Given the description of an element on the screen output the (x, y) to click on. 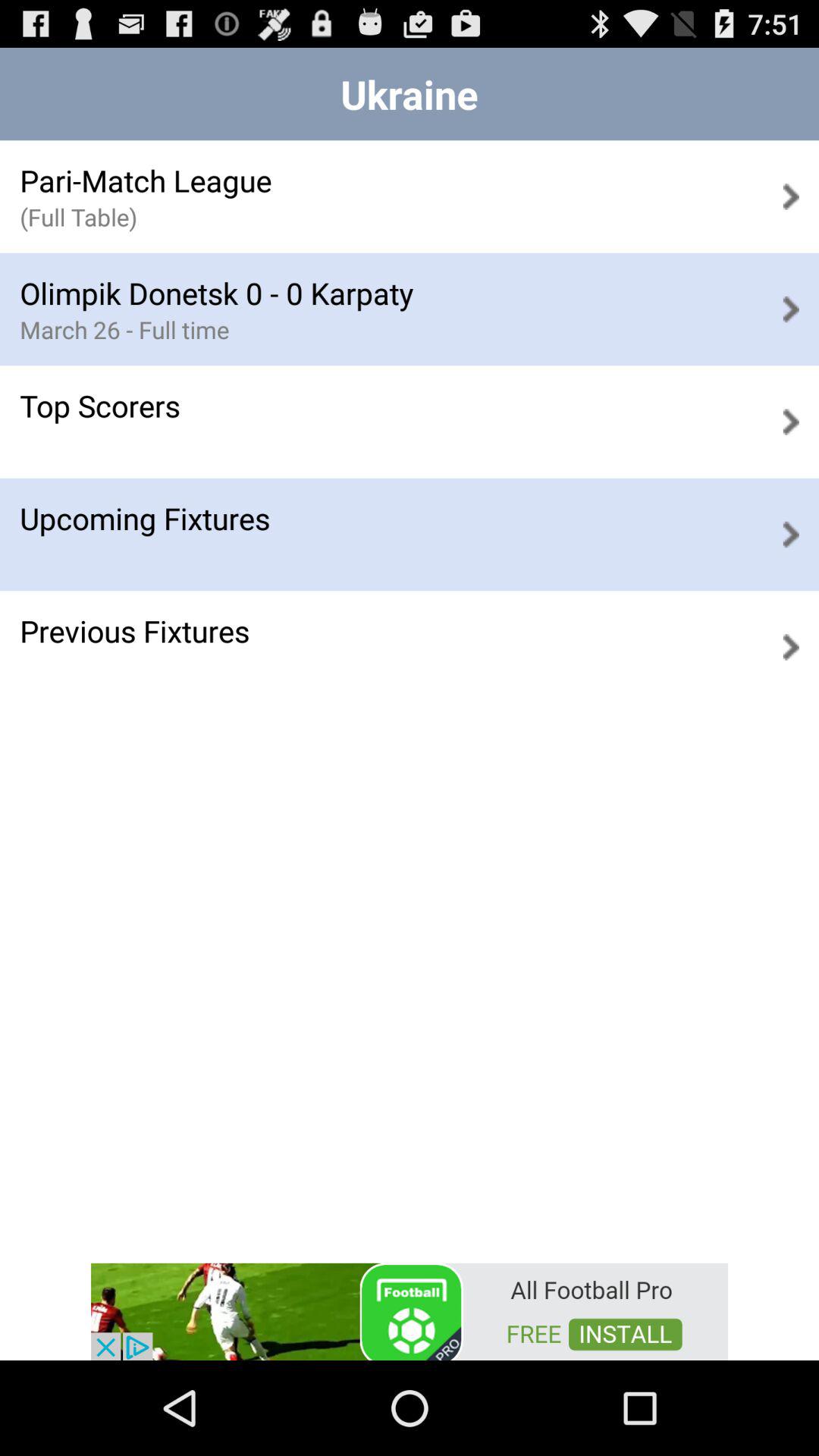
advertisement (409, 1310)
